Given the description of an element on the screen output the (x, y) to click on. 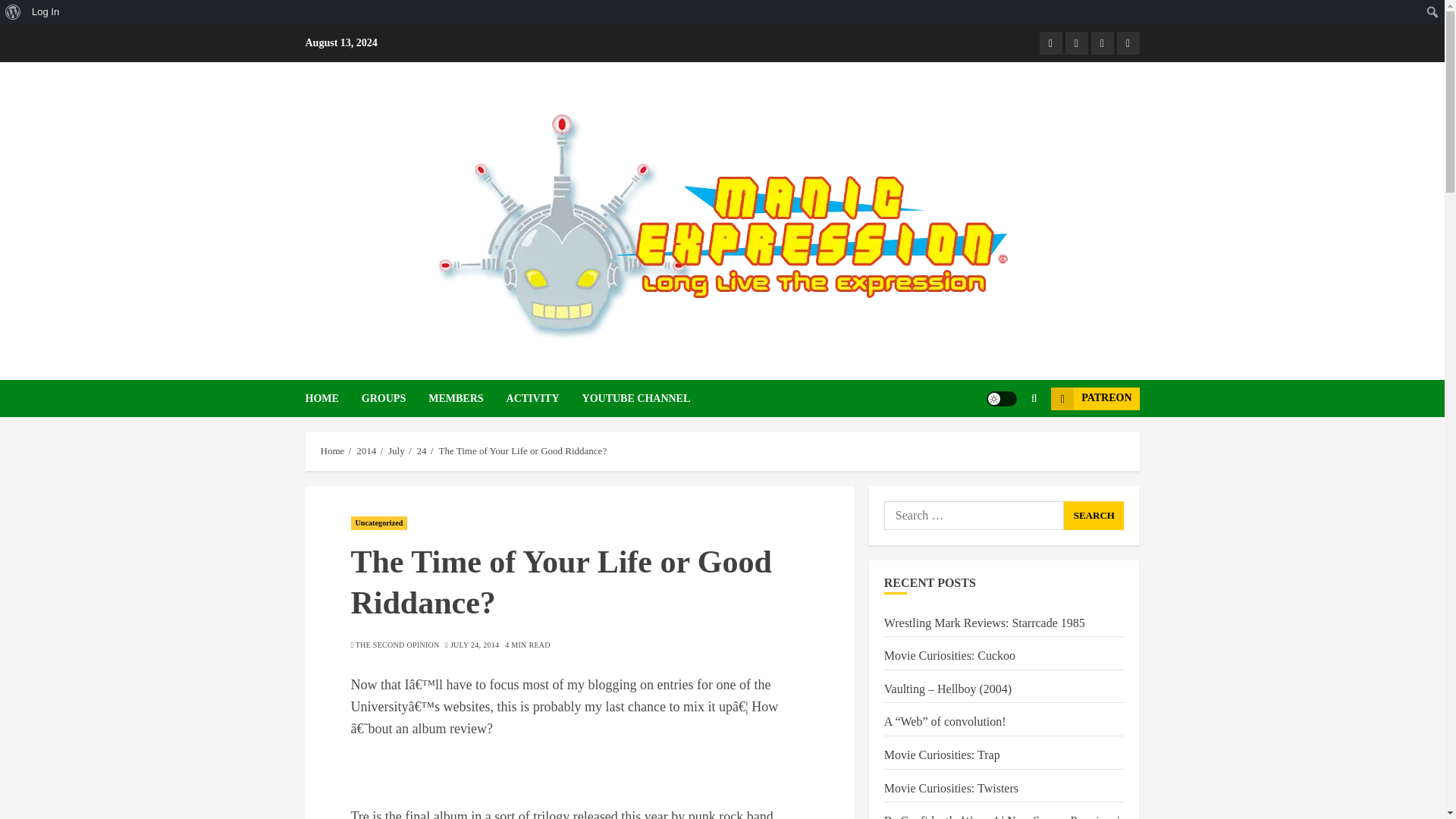
HOME (332, 398)
Search (1094, 515)
July (396, 451)
The Time of Your Life or Good Riddance? (522, 451)
JULY 24, 2014 (474, 644)
Search (1094, 515)
Log In (45, 12)
Tiktok Manic Expression page (1101, 42)
ACTIVITY (544, 398)
GROUPS (394, 398)
